Given the description of an element on the screen output the (x, y) to click on. 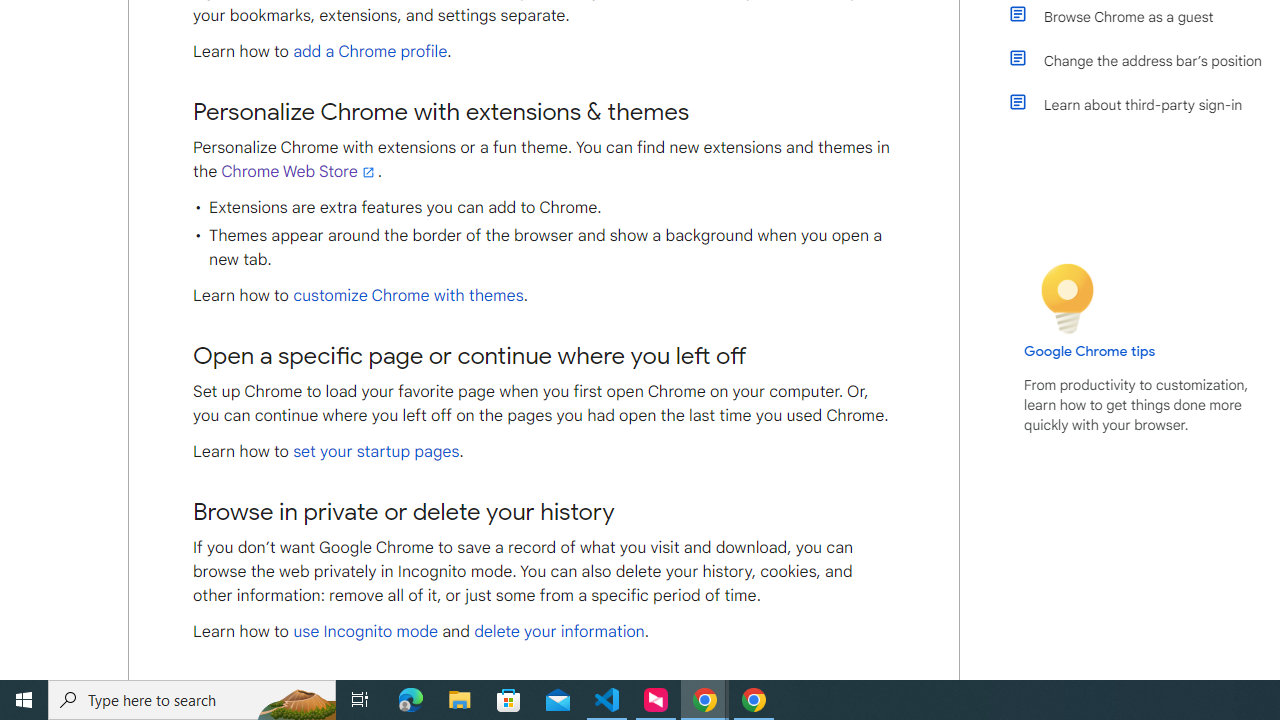
Chrome Web Store (299, 172)
customize Chrome with themes (408, 295)
use Incognito mode (366, 632)
Google Chrome tips (1089, 351)
